Given the description of an element on the screen output the (x, y) to click on. 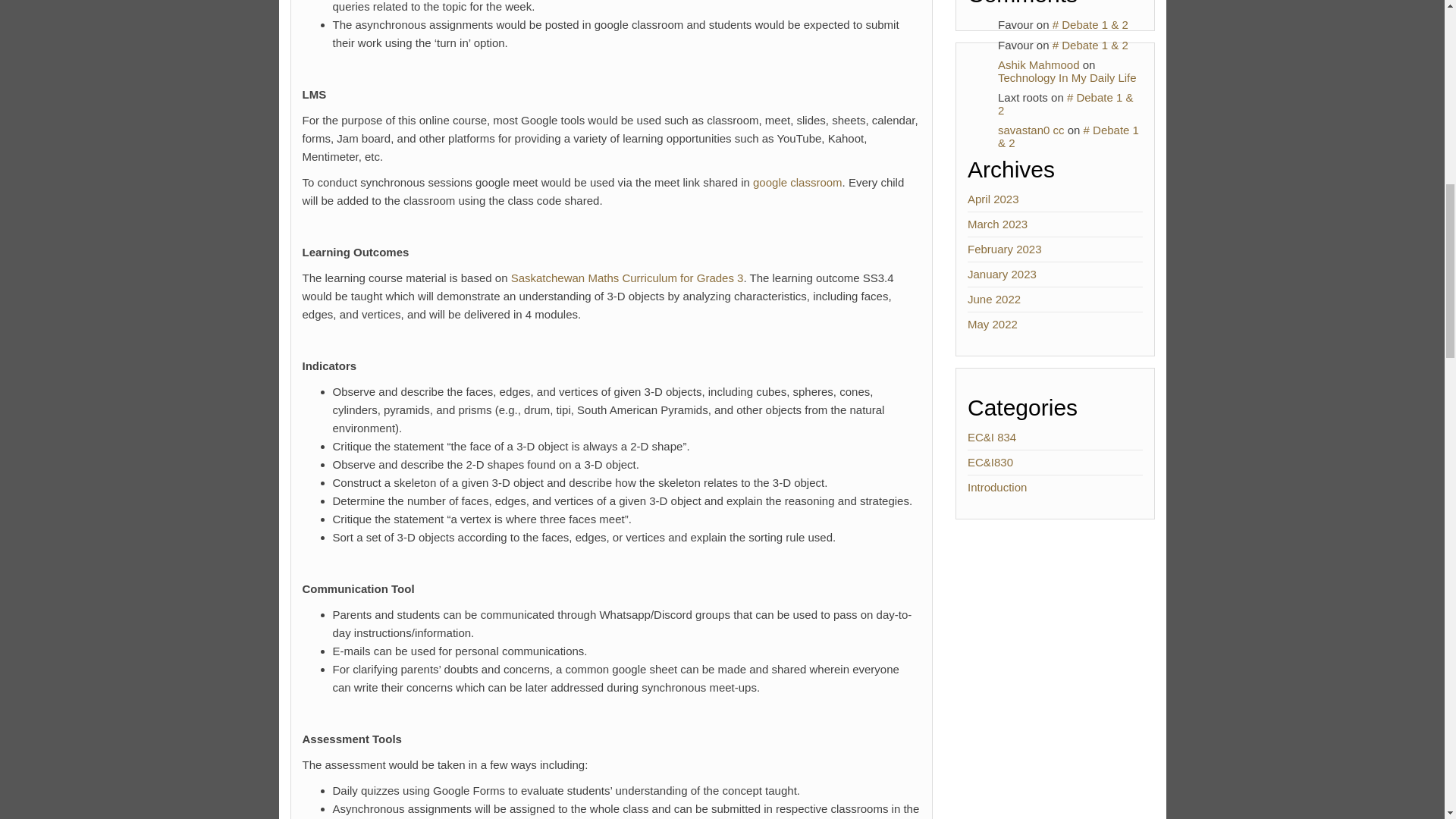
February 2023 (1005, 248)
savastan0 cc (1030, 129)
Saskatchewan Maths Curriculum for Grades 3 (627, 277)
google classroom (797, 182)
Ashik Mahmood (1038, 64)
June 2022 (994, 298)
January 2023 (1002, 273)
March 2023 (997, 223)
May 2022 (992, 323)
April 2023 (993, 198)
Technology In My Daily Life (1067, 77)
